Given the description of an element on the screen output the (x, y) to click on. 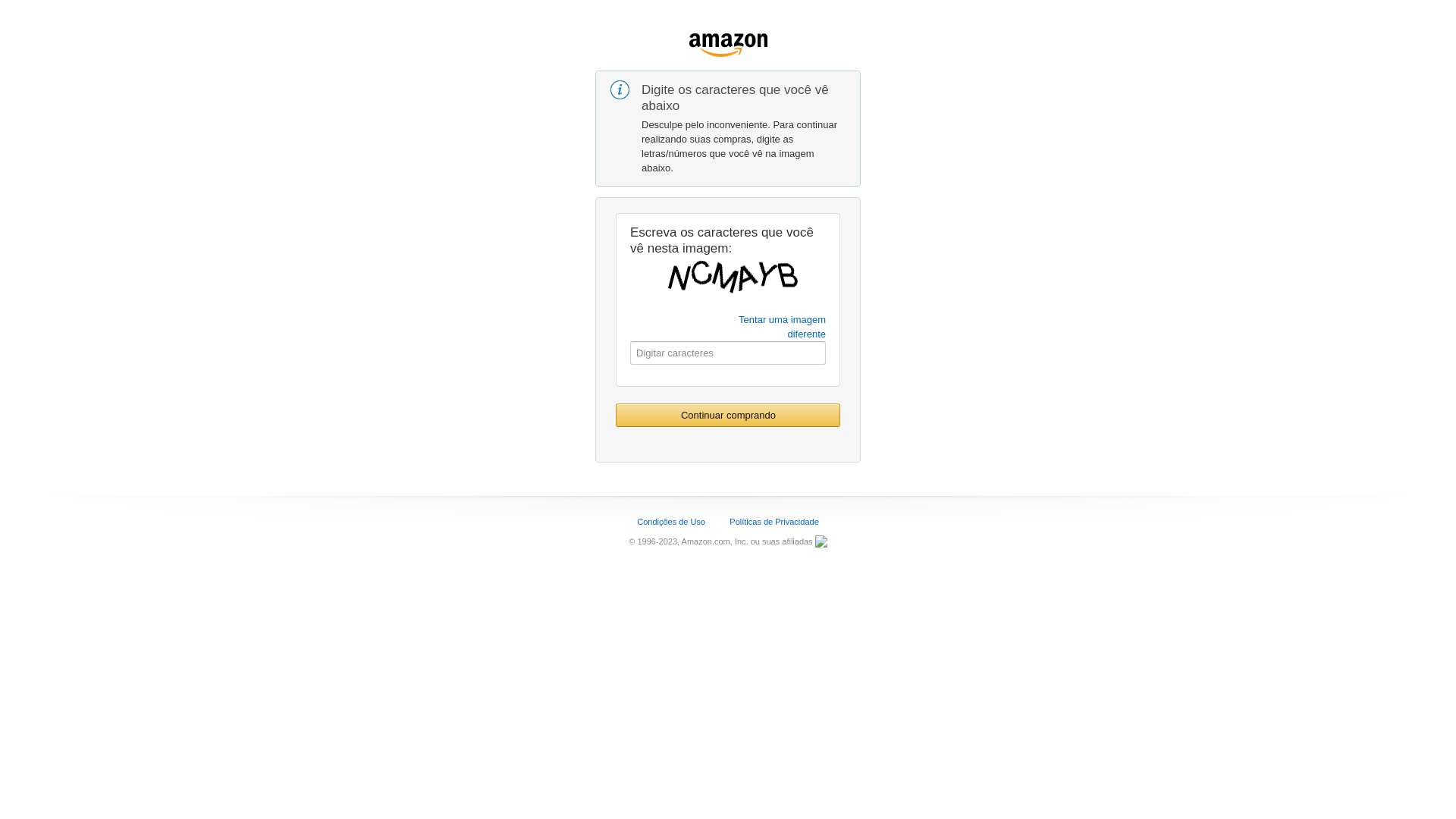
Continuar comprando Element type: text (727, 415)
Tentar uma imagem diferente Element type: text (781, 326)
